Given the description of an element on the screen output the (x, y) to click on. 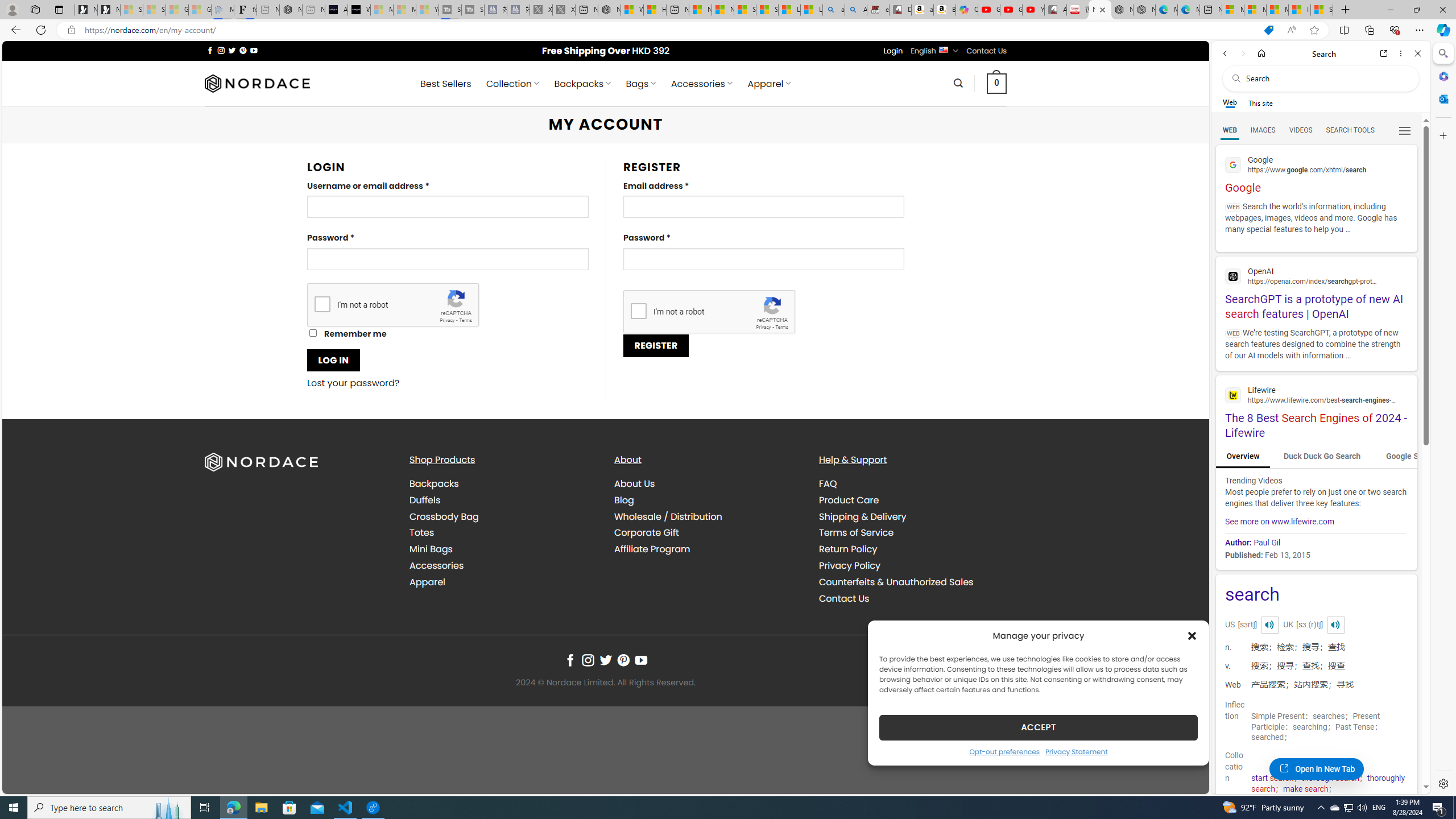
thorough search (1330, 777)
Follow on YouTube (640, 659)
Counterfeits & Unauthorized Sales (896, 581)
About Us (634, 483)
Google (1315, 172)
Microsoft 365 (1442, 76)
Terms of Service (855, 532)
Huge shark washes ashore at New York City beach | Watch (655, 9)
Apparel (502, 581)
Streaming Coverage | T3 - Sleeping (449, 9)
Privacy Statement (1076, 750)
